Given the description of an element on the screen output the (x, y) to click on. 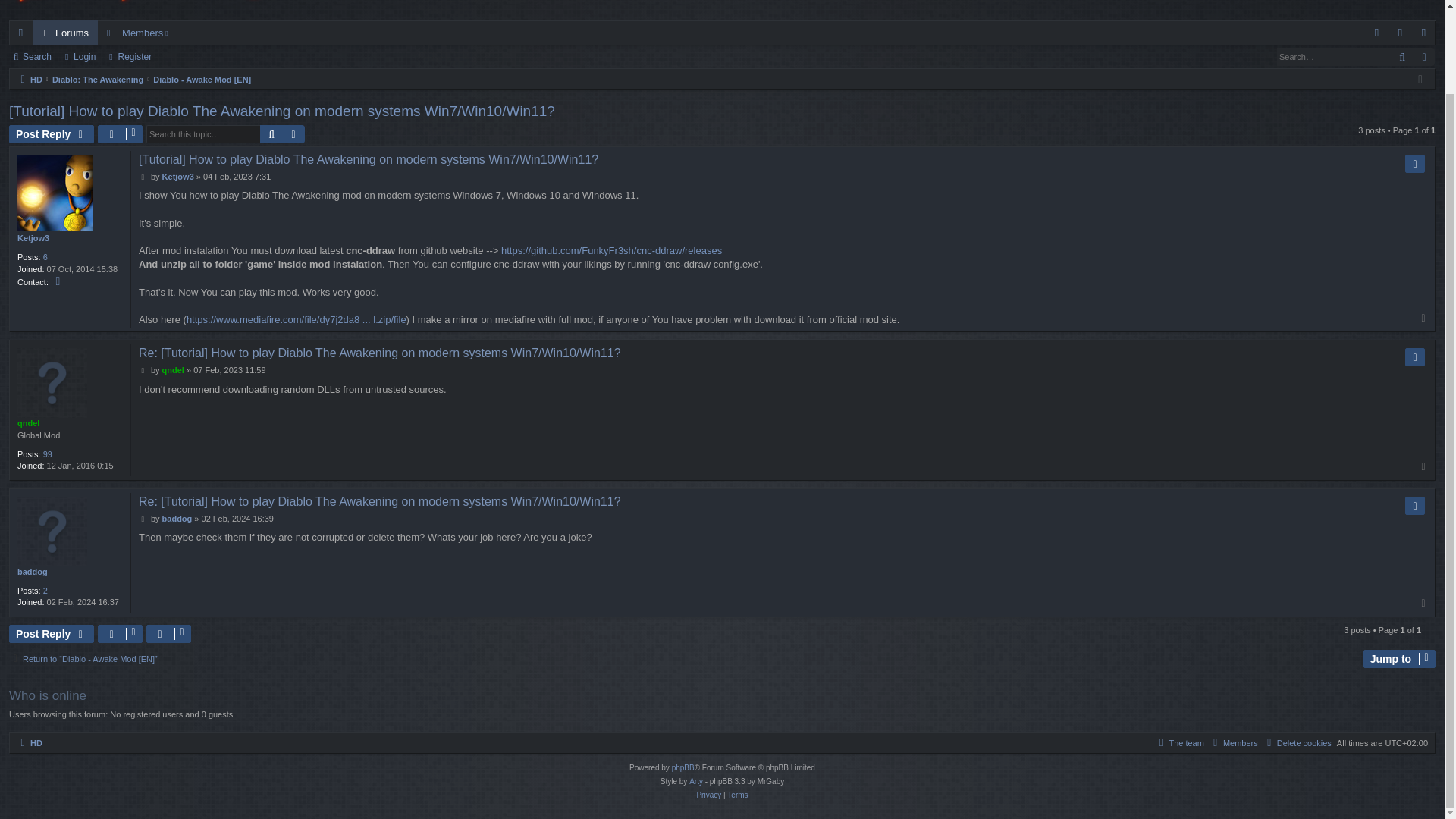
Members (138, 32)
Login (1400, 32)
FAQ (1377, 32)
Register (1423, 32)
Register (131, 56)
Forums (64, 32)
Advanced search (293, 134)
Contact Ketjow3 (58, 281)
Advanced search (1423, 56)
Search (1401, 56)
